Given the description of an element on the screen output the (x, y) to click on. 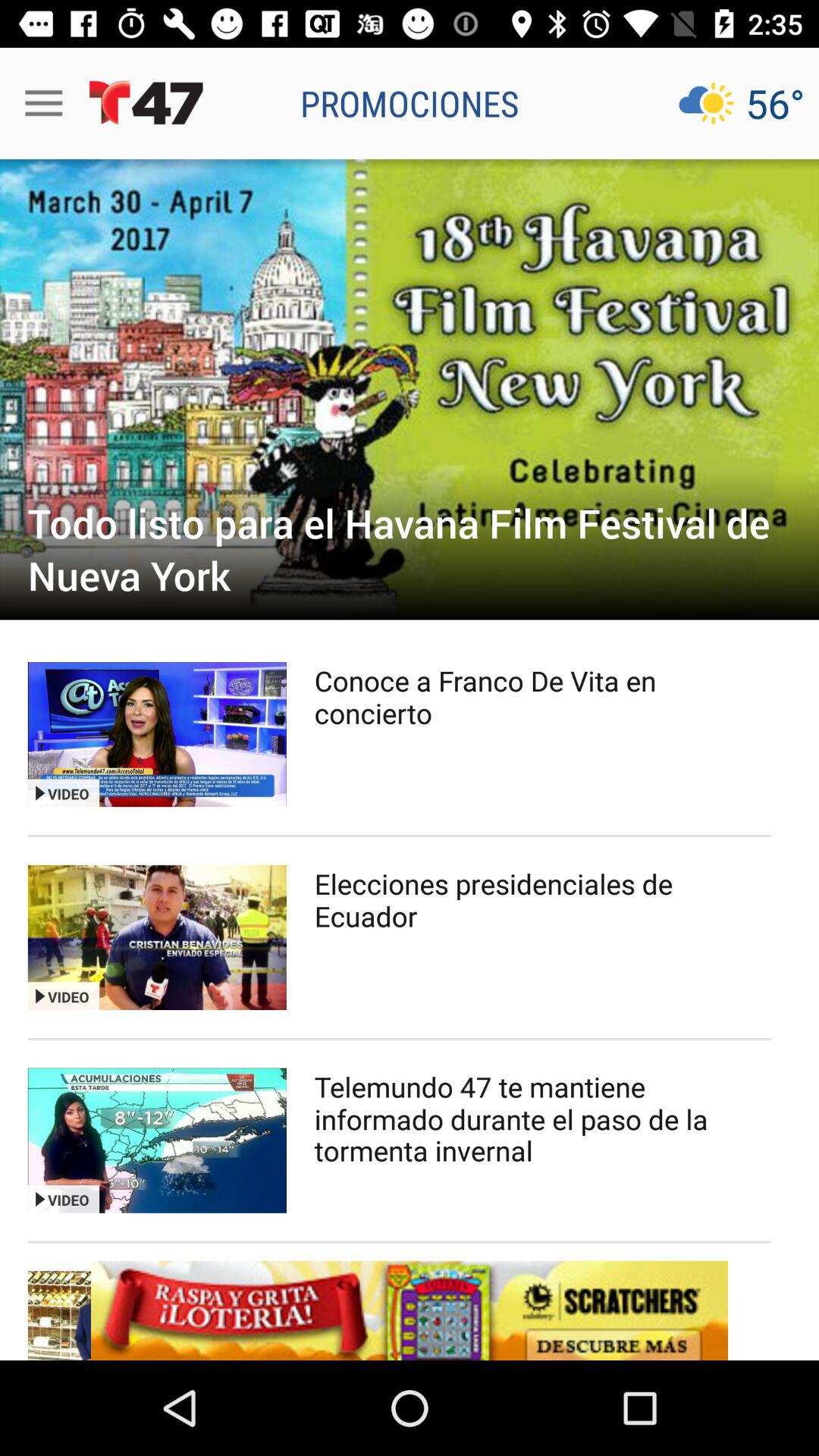
scroll until the promociones item (409, 103)
